Given the description of an element on the screen output the (x, y) to click on. 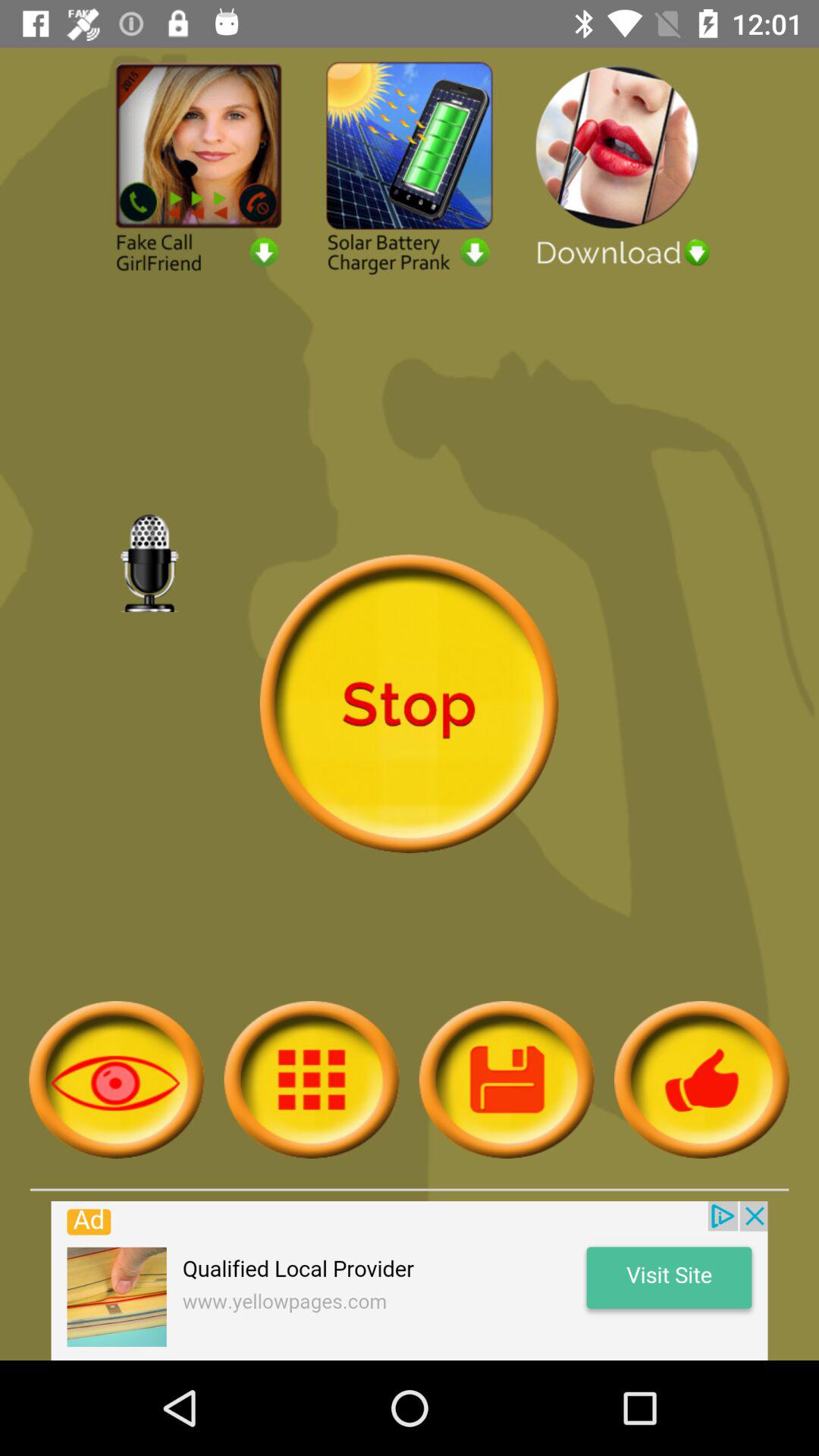
go to icons (311, 1079)
